Given the description of an element on the screen output the (x, y) to click on. 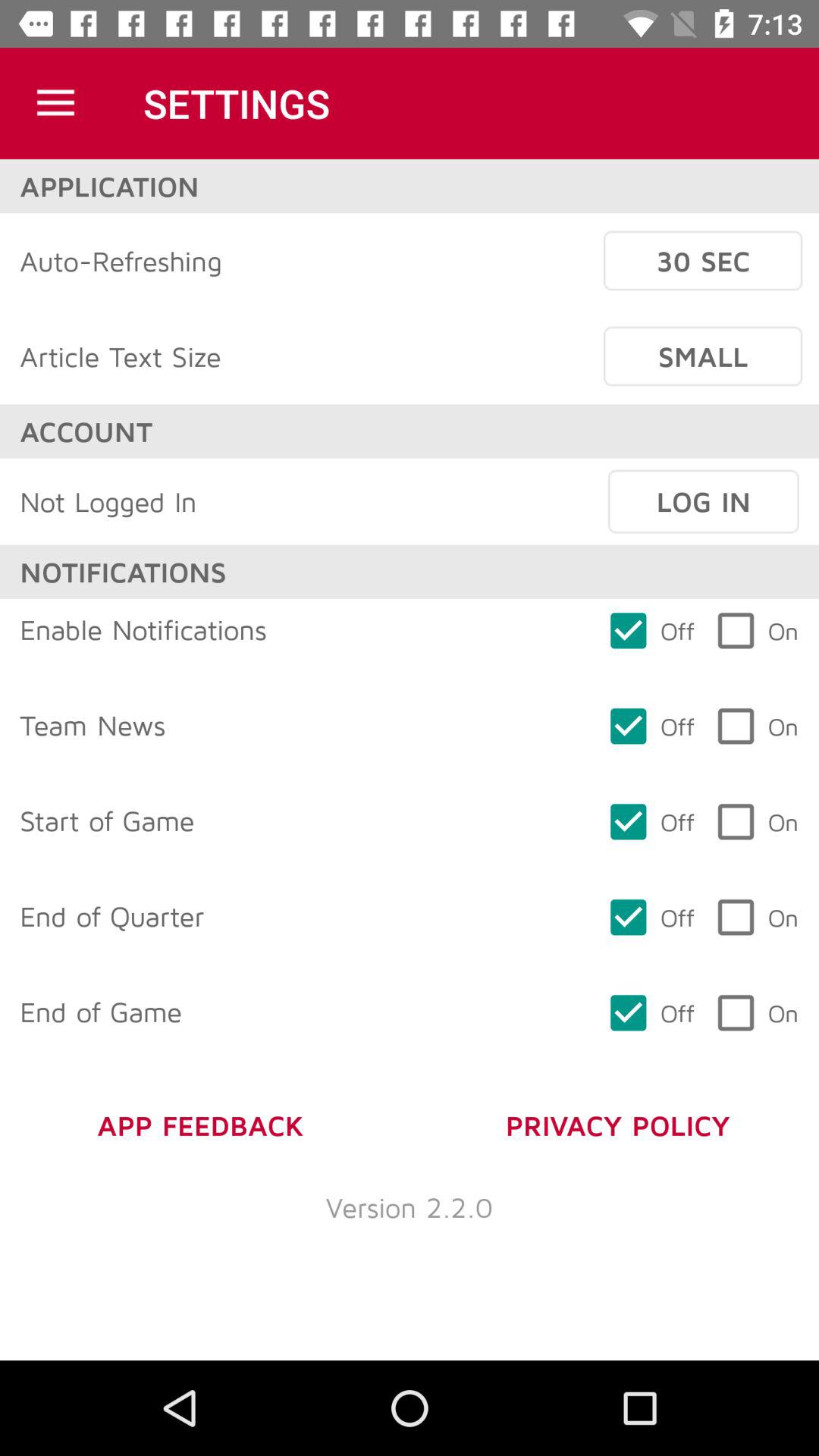
click item below app feedback icon (409, 1206)
